Given the description of an element on the screen output the (x, y) to click on. 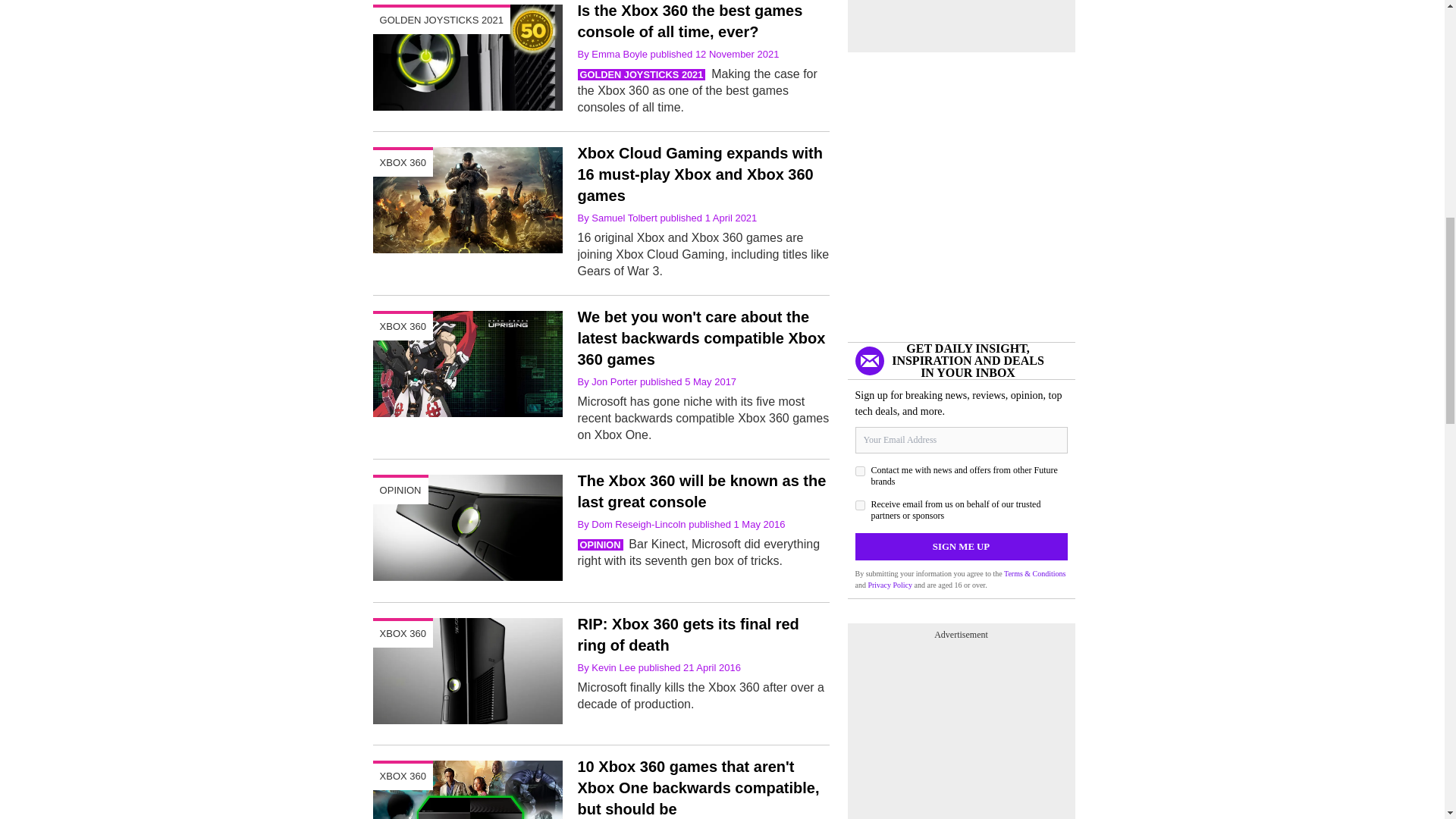
Sign me up (961, 546)
